Given the description of an element on the screen output the (x, y) to click on. 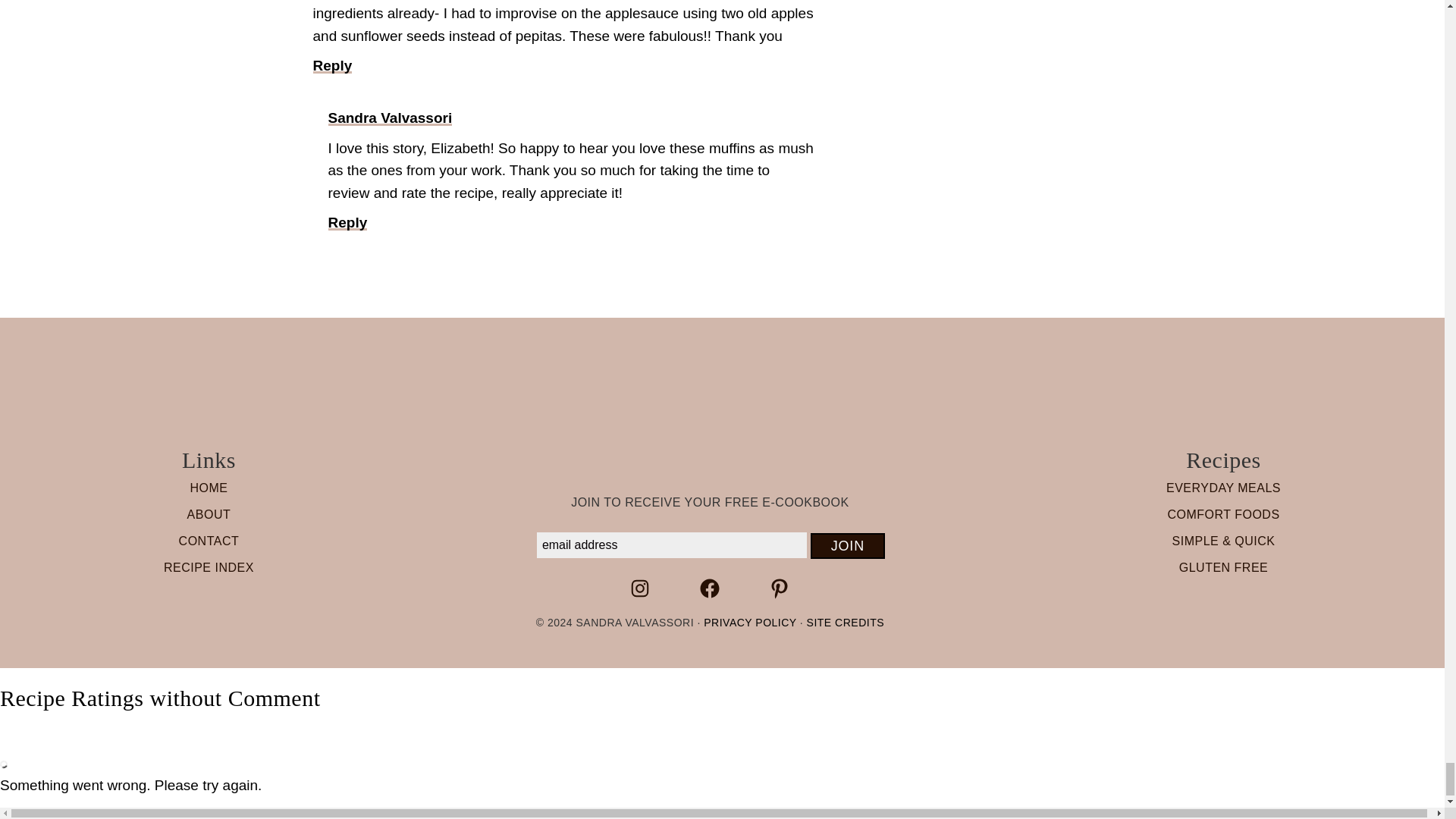
Join (846, 545)
